Given the description of an element on the screen output the (x, y) to click on. 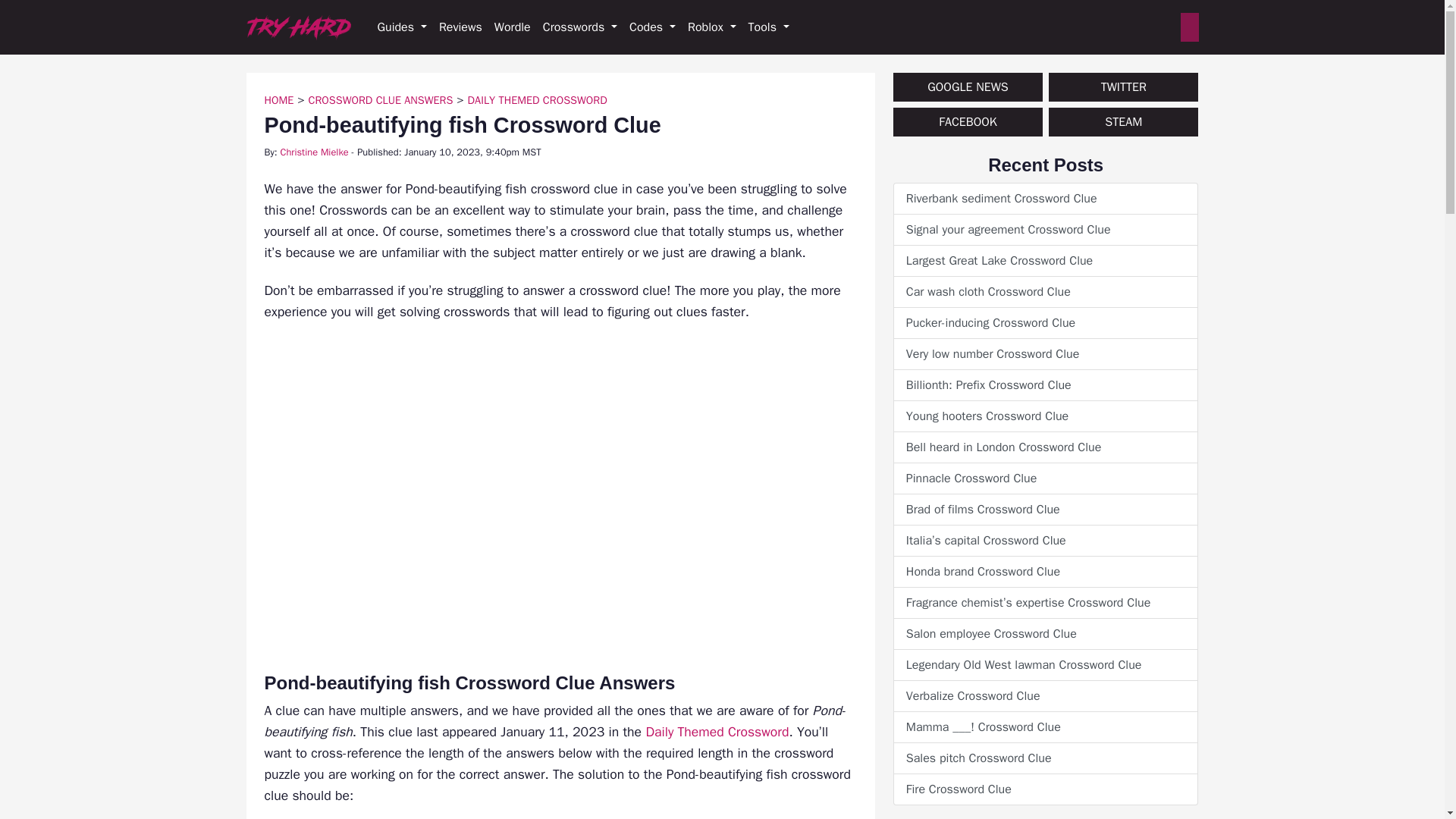
Try Hard Guides (298, 27)
Crosswords (580, 27)
Reviews (459, 27)
Roblox (711, 27)
Wordle (512, 27)
Codes (652, 27)
Guides (401, 27)
